Given the description of an element on the screen output the (x, y) to click on. 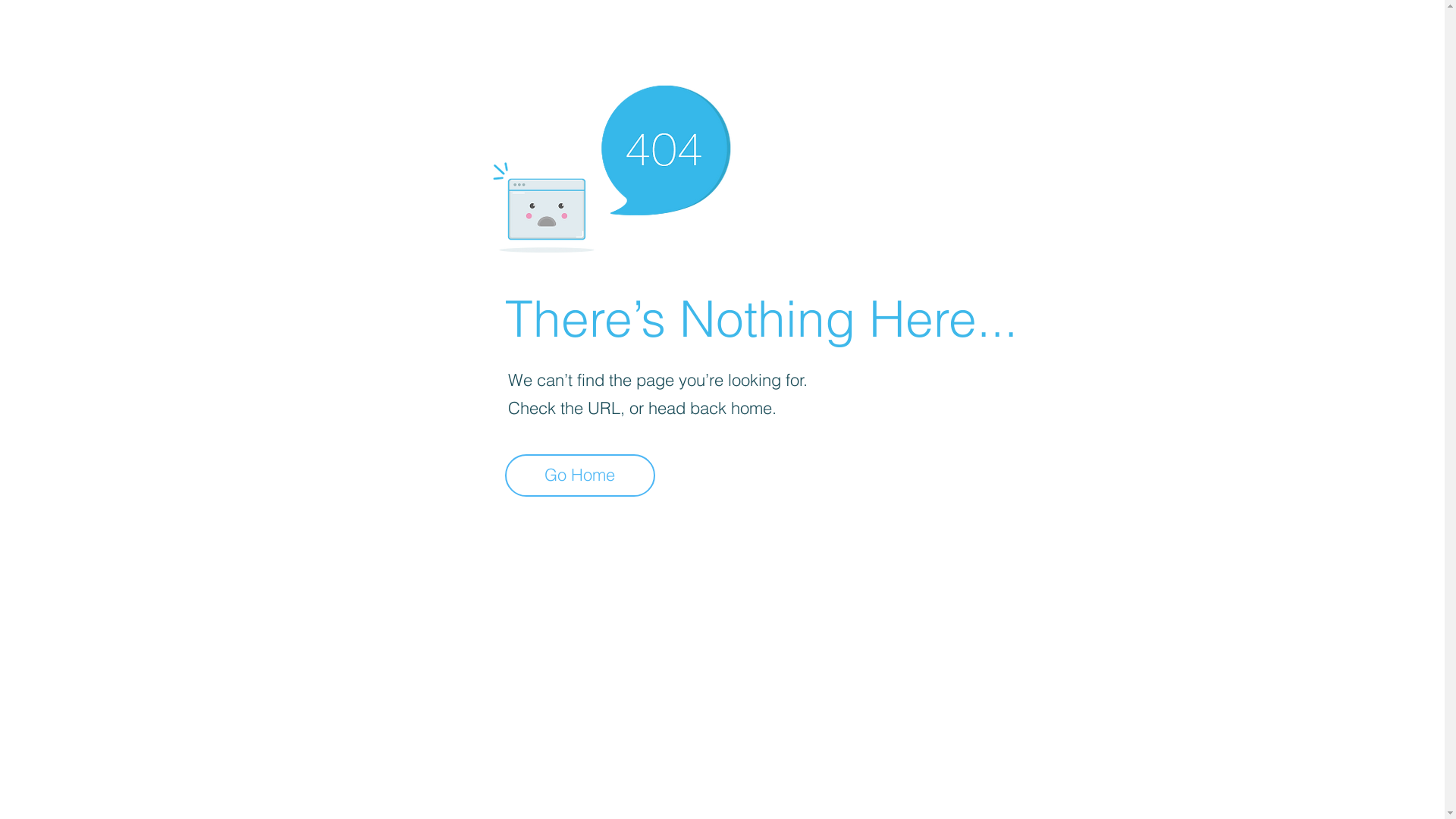
Go Home Element type: text (580, 475)
404-icon_2.png Element type: hover (610, 164)
